Given the description of an element on the screen output the (x, y) to click on. 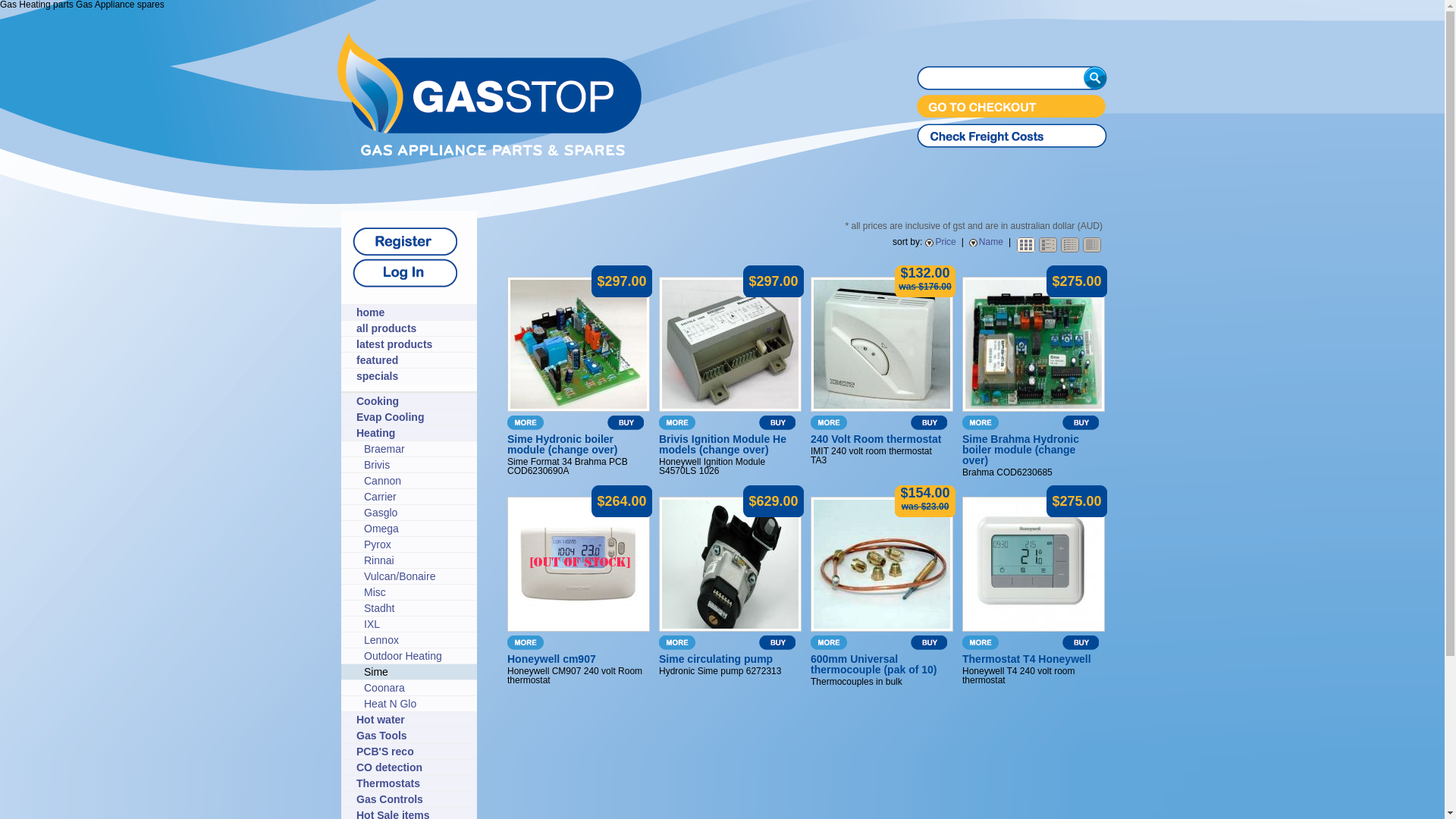
Vulcan/Bonaire Element type: text (416, 576)
Home Element type: hover (489, 152)
Carrier Element type: text (416, 496)
Name Element type: text (986, 241)
Omega Element type: text (416, 528)
Brivis Element type: text (416, 464)
Price Element type: text (940, 241)
specials Element type: text (412, 375)
Coonara Element type: text (416, 687)
Cannon Element type: text (416, 480)
home Element type: text (412, 312)
Sime Element type: text (416, 671)
Braemar Element type: text (416, 448)
Lennox Element type: text (416, 639)
Heat N Glo Element type: text (416, 703)
Misc Element type: text (416, 591)
Gasglo Element type: text (416, 512)
latest products Element type: text (412, 343)
featured Element type: text (412, 359)
IXL Element type: text (416, 623)
Outdoor Heating Element type: text (416, 655)
Pyrox Element type: text (416, 544)
all products Element type: text (412, 328)
Stadht Element type: text (416, 607)
Rinnai Element type: text (416, 560)
